Given the description of an element on the screen output the (x, y) to click on. 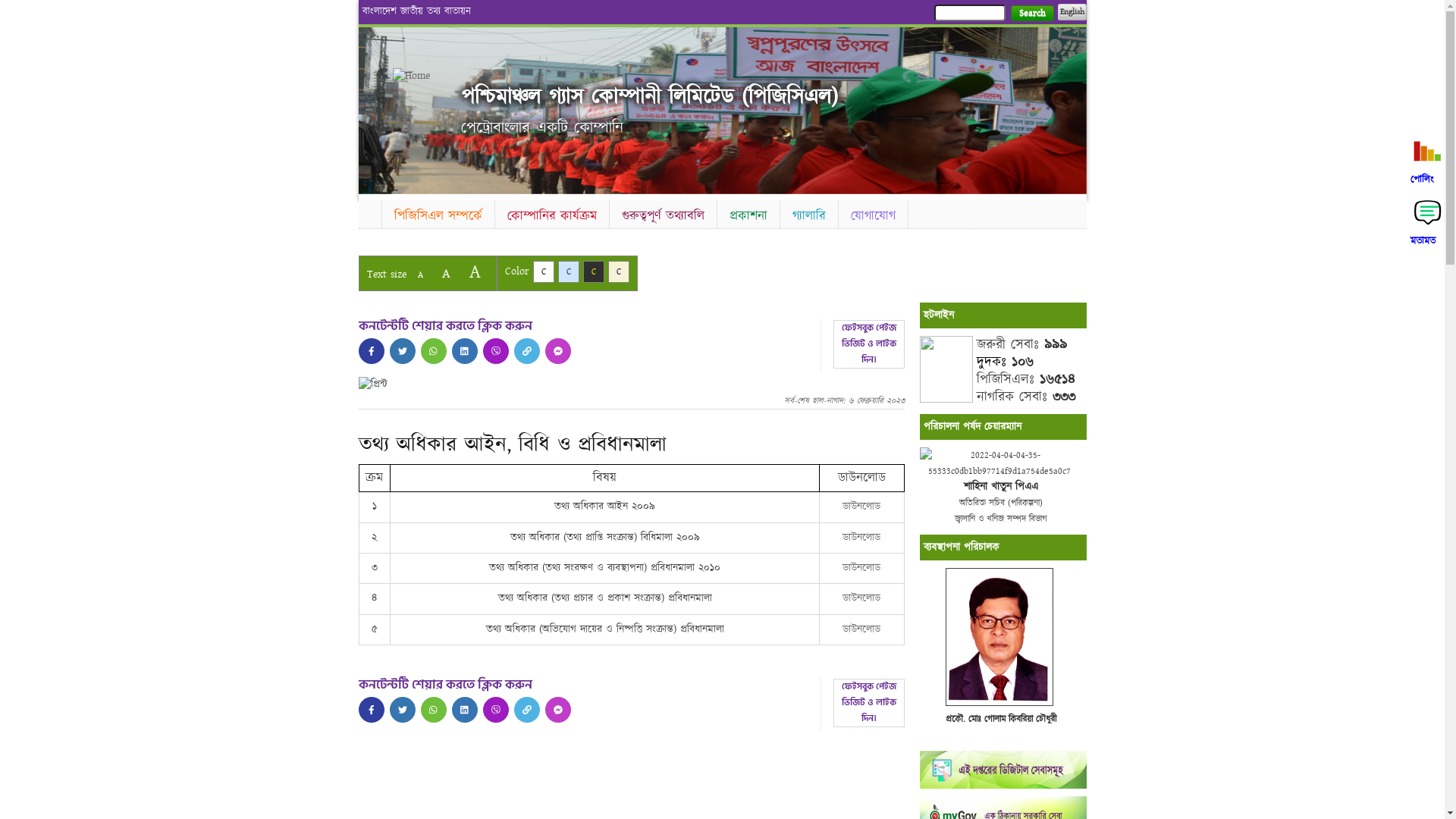
Search Element type: text (1031, 13)
Home Element type: hover (418, 76)
Home Element type: hover (368, 211)
A Element type: text (419, 274)
A Element type: text (474, 271)
English Element type: text (1071, 11)
C Element type: text (568, 271)
C Element type: text (542, 271)
C Element type: text (618, 271)
A Element type: text (445, 273)
C Element type: text (592, 271)
